Given the description of an element on the screen output the (x, y) to click on. 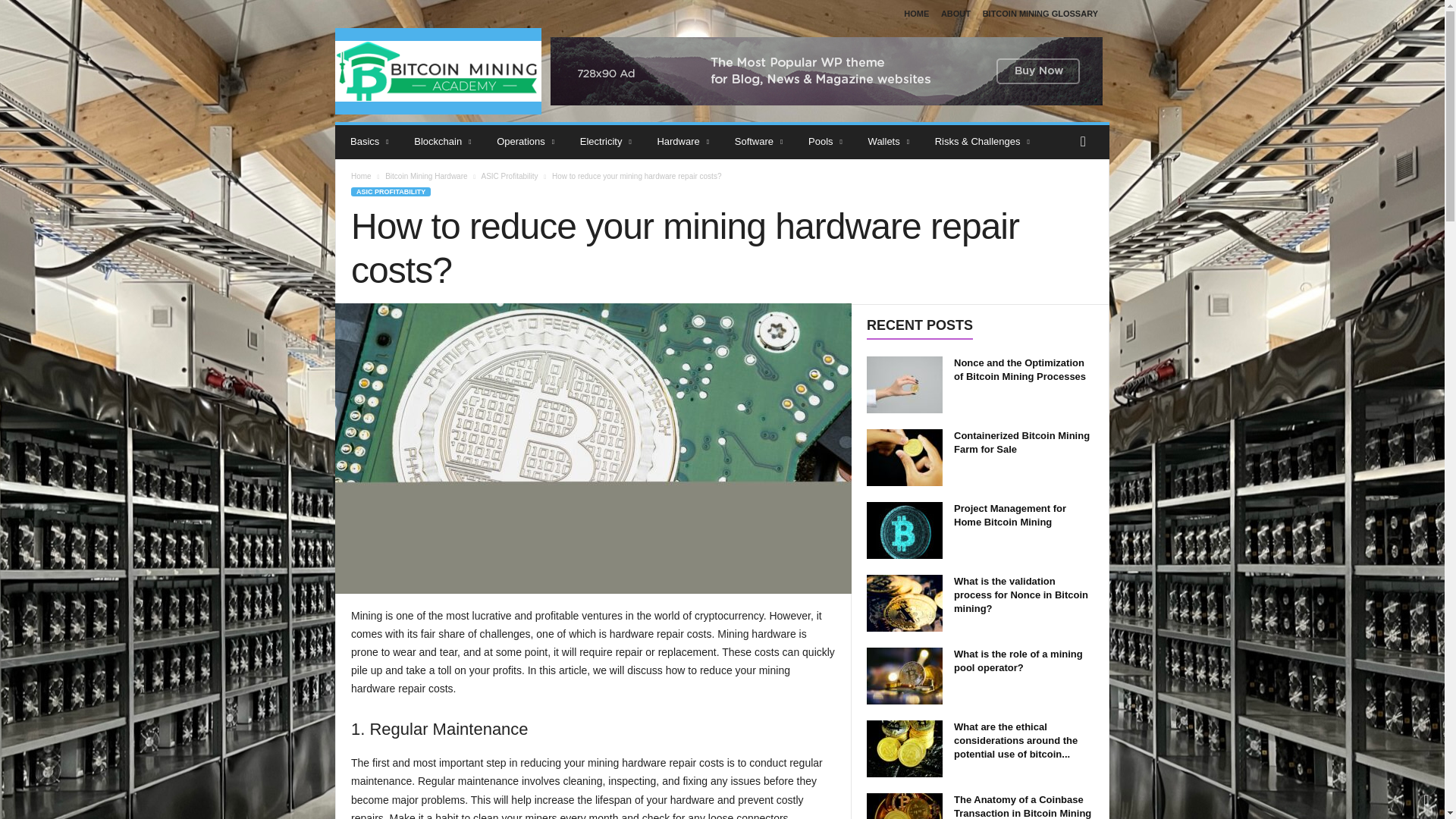
View all posts in ASIC Profitability (508, 175)
View all posts in Bitcoin Mining Hardware (426, 175)
